Given the description of an element on the screen output the (x, y) to click on. 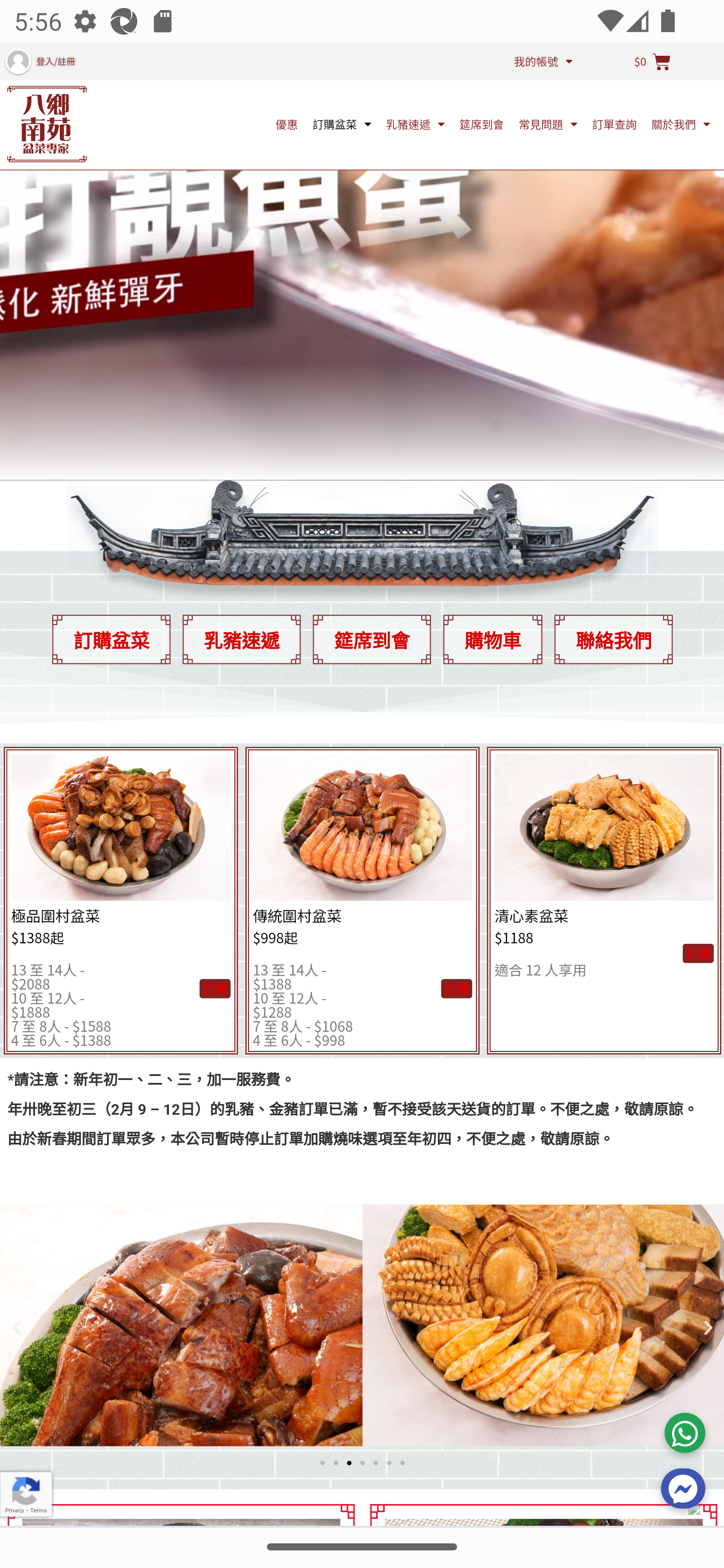
YouTube Video Player (362, 261)
YouTube Video Player (362, 261)
YouTube Video Player (362, 261)
$0  購物籃 $ 0  (652, 61)
$0  購物籃 $ 0  (652, 61)
我的帳號  我的帳號  (543, 60)
我的帳號  我的帳號  (543, 60)
my-account (17, 61)
登入/註冊 (55, 61)
登入/註冊 登入/註冊 登入/註冊 (108, 60)
www.poonchoi (46, 123)
優惠 (286, 123)
訂購盆菜  訂購盆菜  (341, 123)
乳豬速遞  乳豬速遞  (414, 123)
筵席到會 (481, 123)
常見問題  常見問題  (547, 123)
訂單查詢 (614, 123)
關於我們  關於我們  (680, 123)
訂購盆菜 (111, 640)
乳豬速遞 (241, 640)
筵席到會 (372, 640)
購物車 (492, 640)
聯絡我們 (613, 640)
訂購 (698, 953)
訂購 (214, 989)
訂購 (456, 989)
Previous slide (16, 1328)
Next slide (708, 1328)
Go to slide 1 (322, 1463)
Go to slide 2 (335, 1463)
Go to slide 3 (348, 1463)
Go to slide 4 (361, 1463)
Go to slide 5 (375, 1463)
Go to slide 6 (388, 1463)
Go to slide 7 (401, 1463)
